Given the description of an element on the screen output the (x, y) to click on. 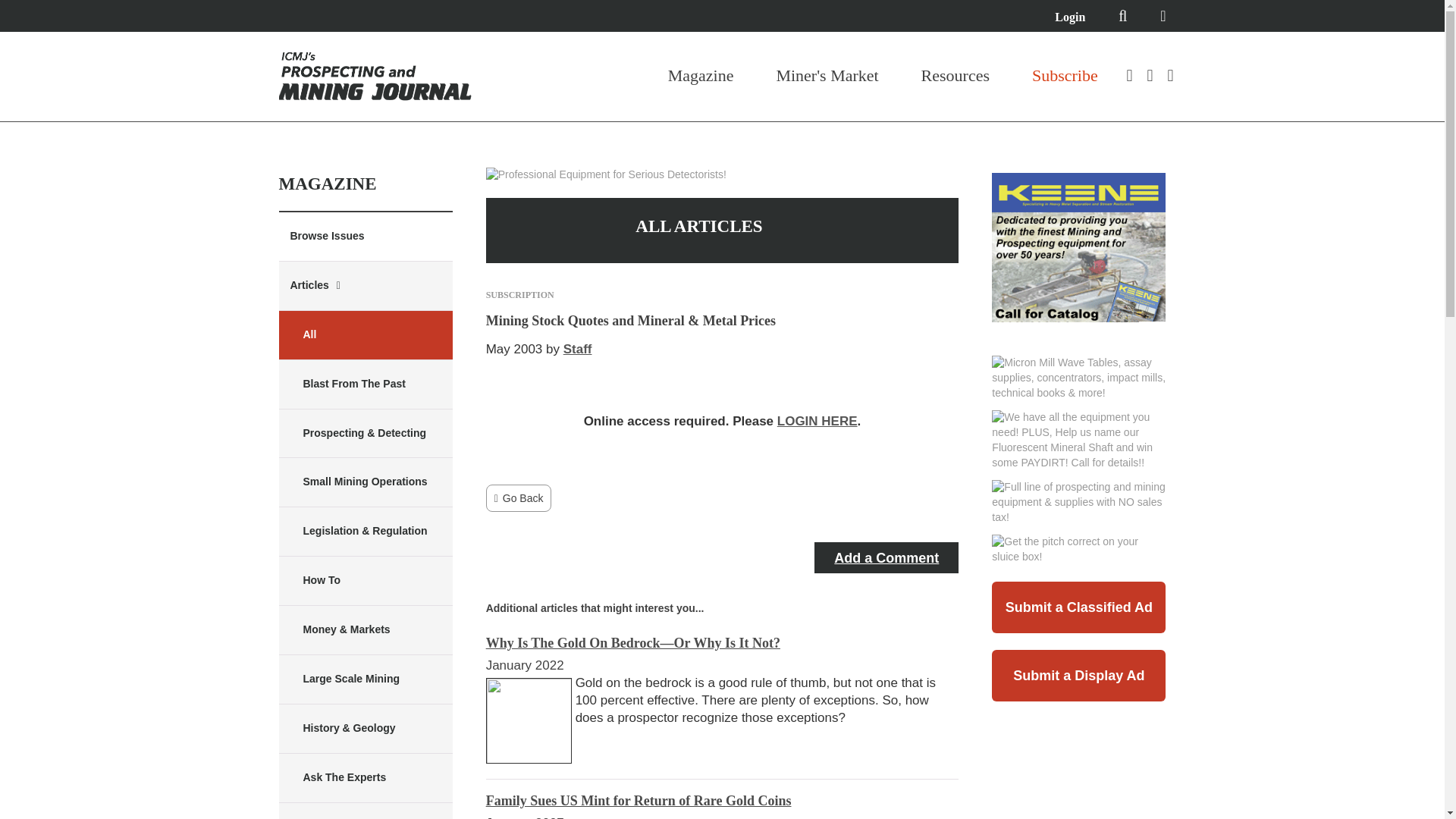
Get the pitch correct on your sluice box! (1078, 549)
Small-scale and commercial suction gold dredges. (1078, 259)
Login (1069, 16)
Professional Equipment for Serious Detectorists! (606, 174)
Miner's Market (826, 75)
Magazine (700, 75)
Resources (955, 75)
